Given the description of an element on the screen output the (x, y) to click on. 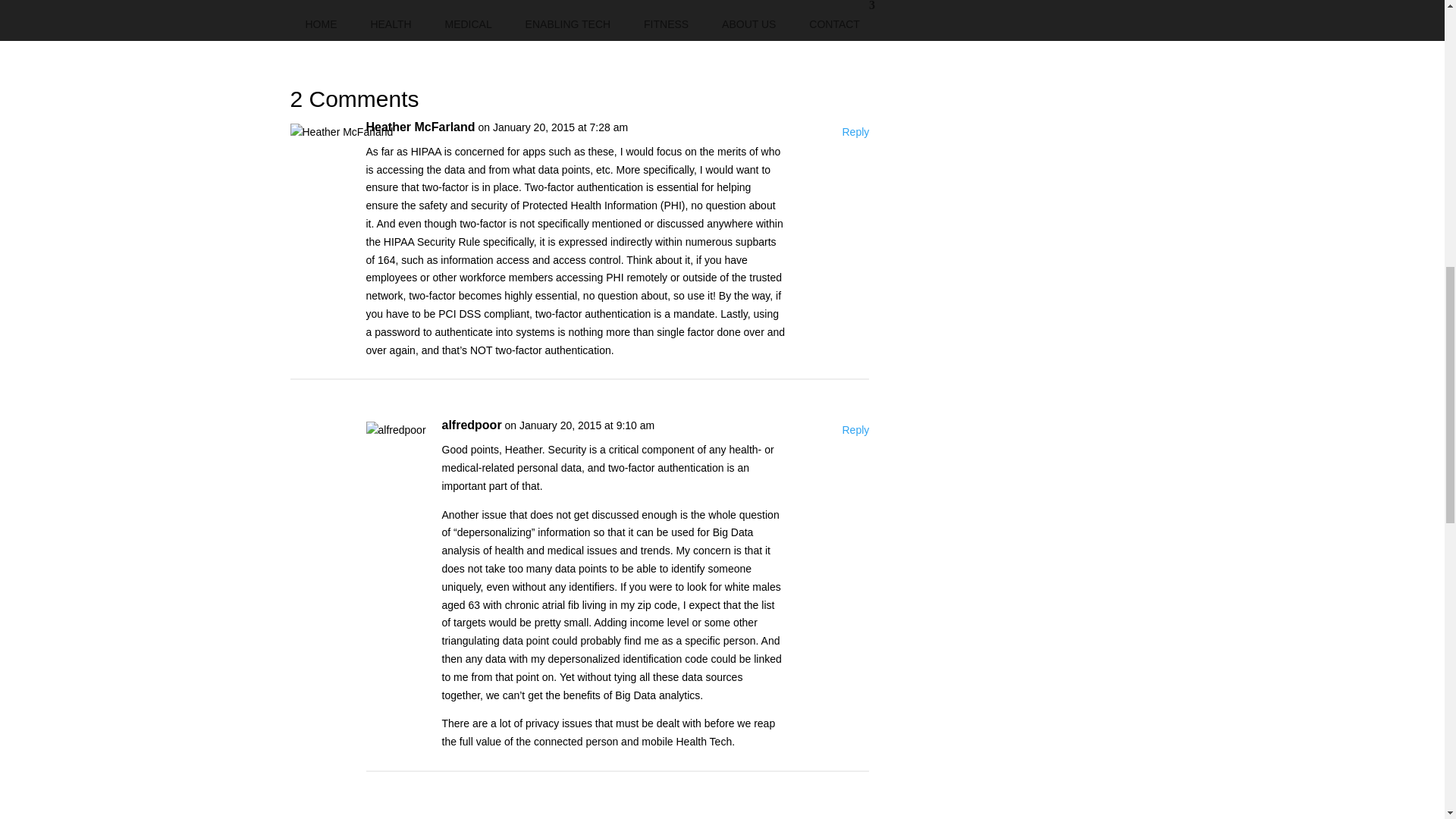
Reply (855, 430)
Heather McFarland (419, 126)
Reply (855, 132)
available here (488, 21)
